Given the description of an element on the screen output the (x, y) to click on. 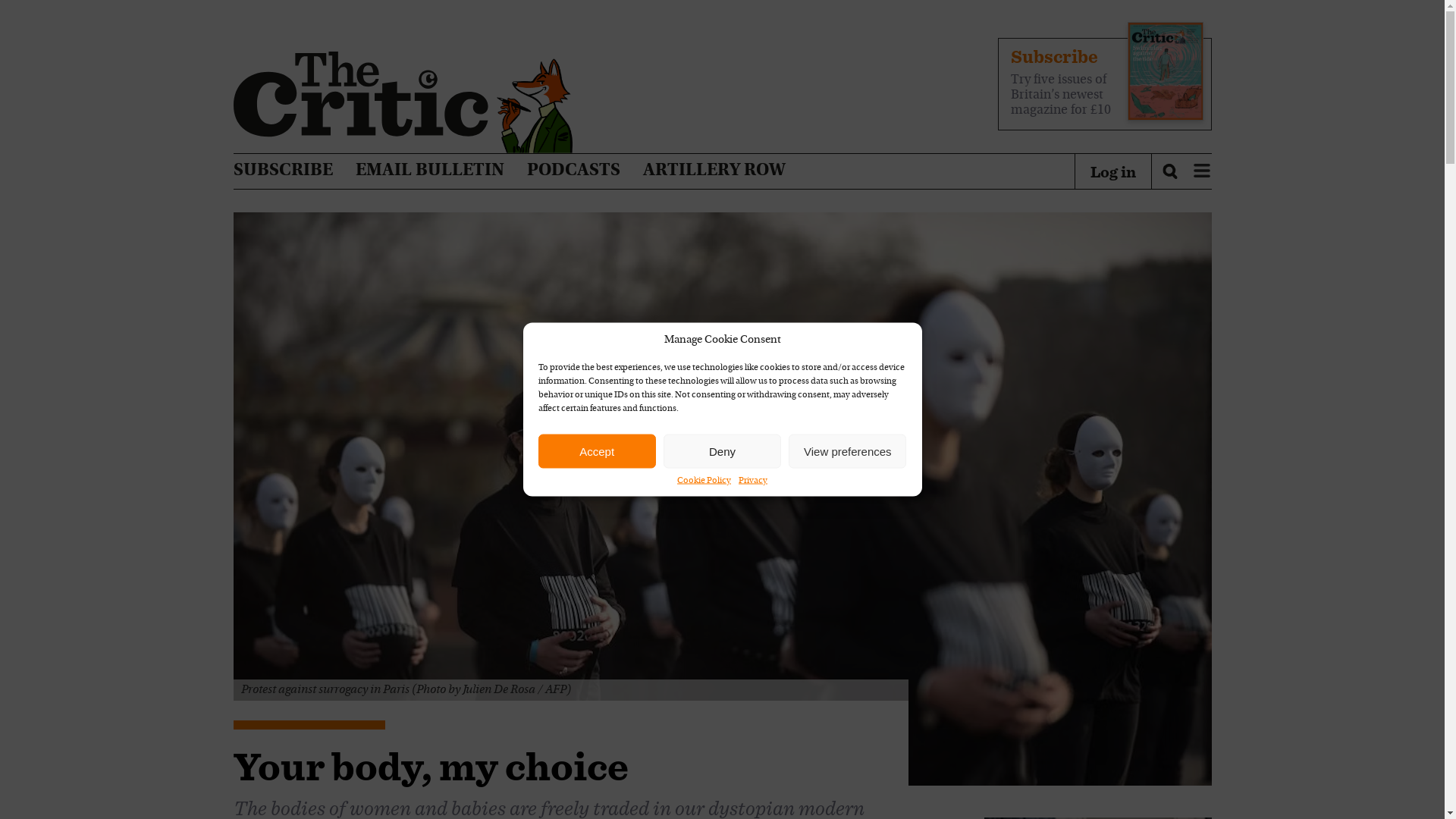
EMAIL BULLETIN (429, 171)
Deny (721, 450)
ARTILLERY ROW (714, 171)
Cookie Policy (703, 480)
View preferences (847, 450)
PODCASTS (572, 171)
Accept (597, 450)
Privacy (752, 480)
SUBSCRIBE (282, 171)
Log in (1112, 171)
